Given the description of an element on the screen output the (x, y) to click on. 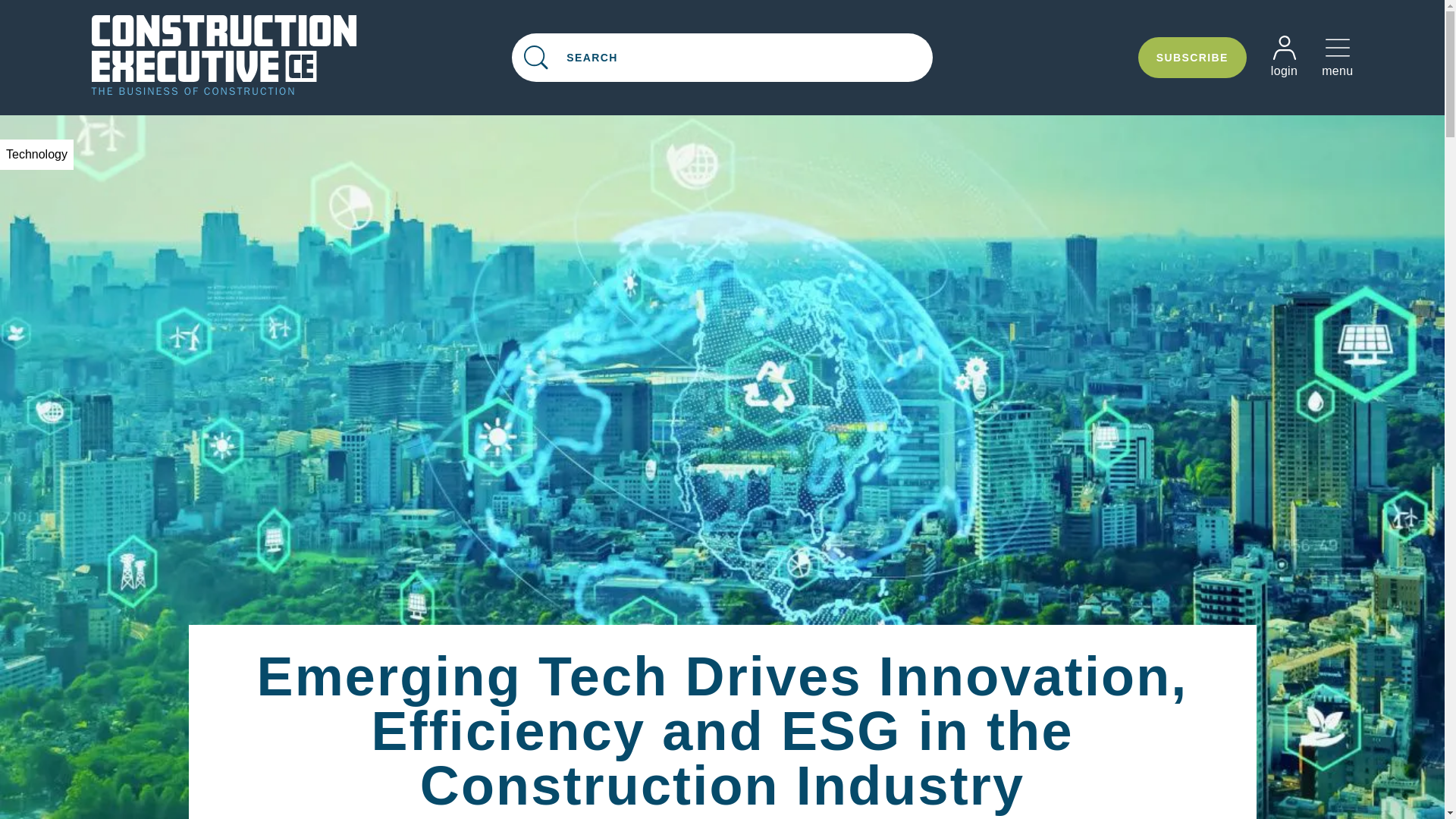
SUBSCRIBE (301, 56)
SEARCH (1192, 56)
